Given the description of an element on the screen output the (x, y) to click on. 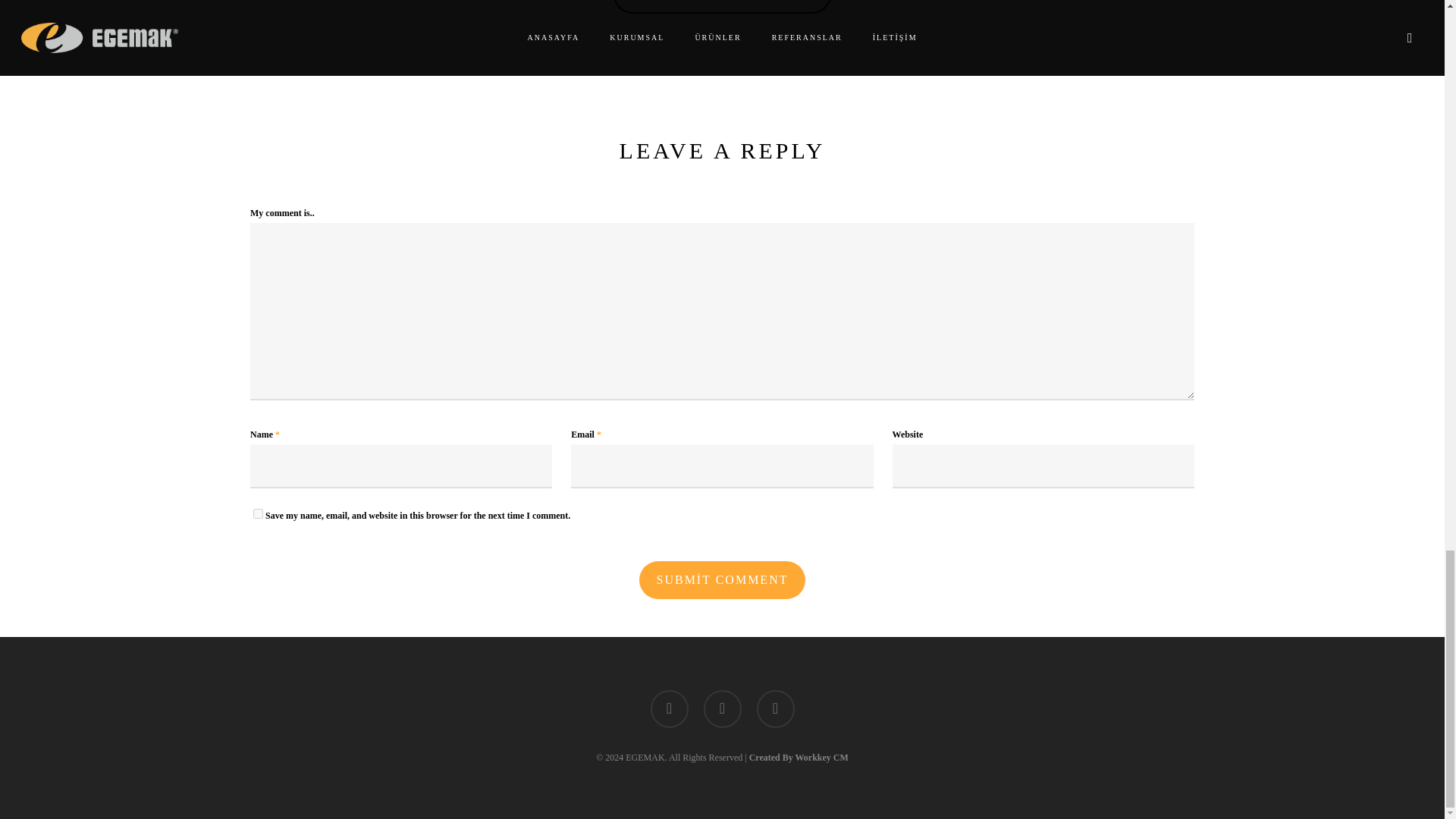
Submit Comment (722, 579)
yes (258, 513)
Submit Comment (722, 579)
MORE POSTS BY EMRE EMRE (721, 6)
